Given the description of an element on the screen output the (x, y) to click on. 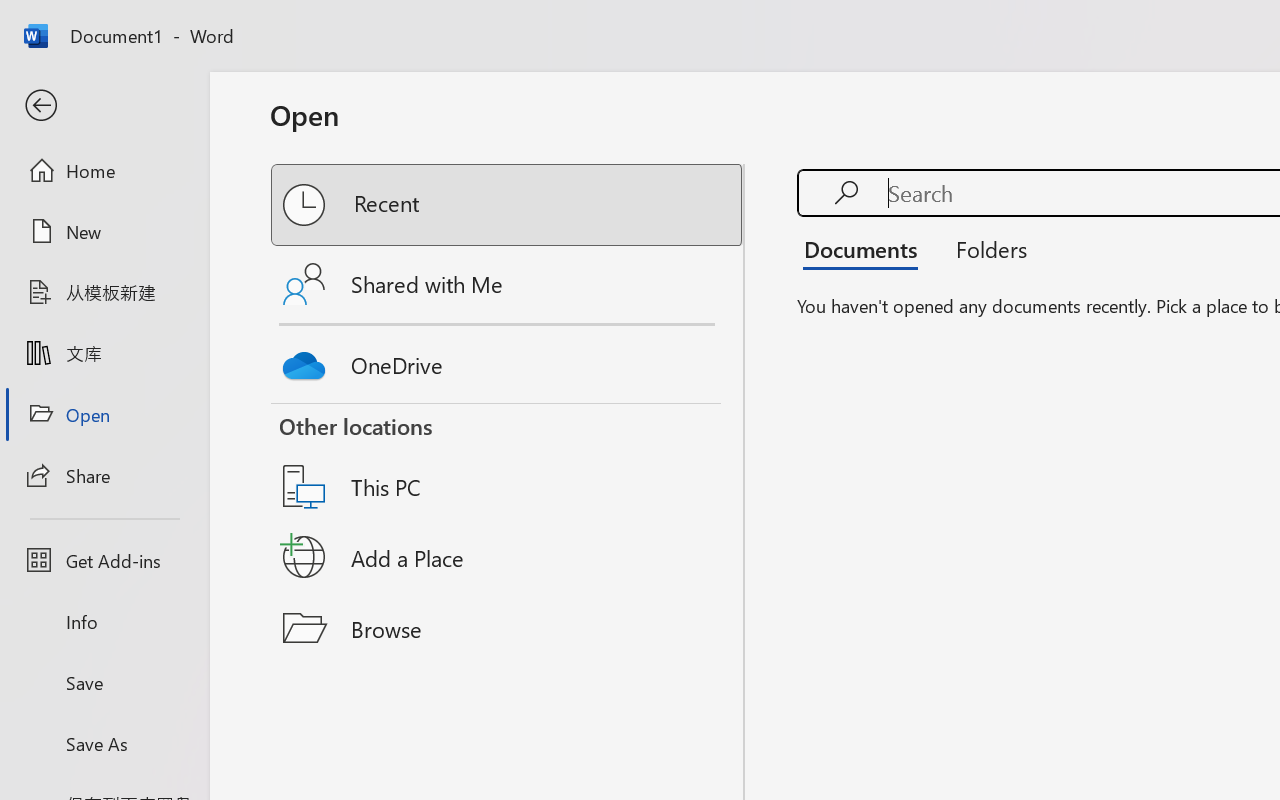
Browse (507, 627)
Get Add-ins (104, 560)
Save As (104, 743)
OneDrive (507, 359)
